Given the description of an element on the screen output the (x, y) to click on. 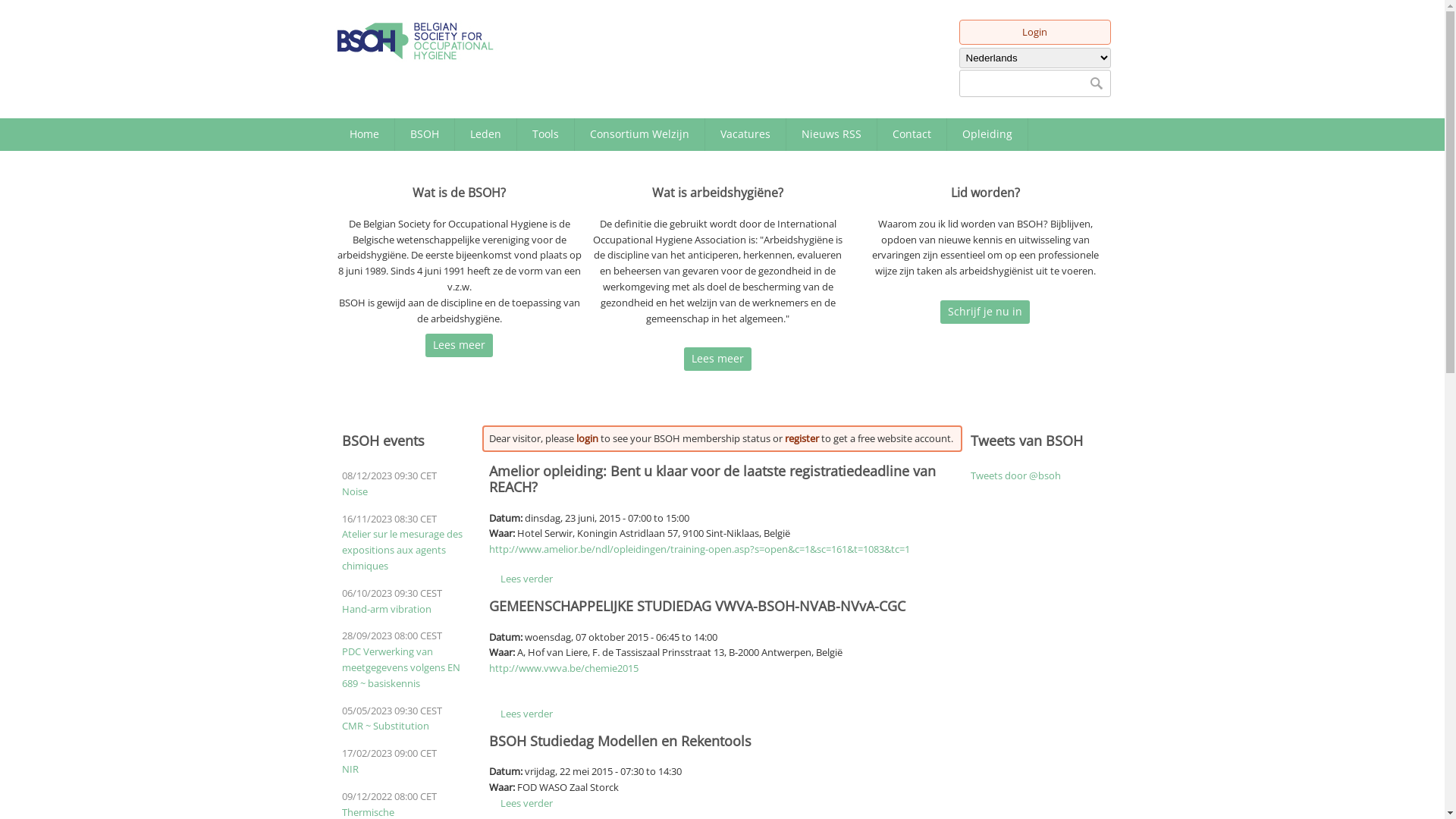
register Element type: text (801, 438)
Lees meer Element type: text (717, 358)
CMR ~ Substitution Element type: text (384, 725)
Consortium Welzijn Element type: text (639, 134)
Vacatures Element type: text (745, 134)
Home Element type: text (363, 134)
BSOH Element type: text (423, 134)
GEMEENSCHAPPELIJKE STUDIEDAG VWVA-BSOH-NVAB-NVvA-CGC Element type: text (697, 605)
Zoeken Element type: text (1095, 83)
Leden Element type: text (485, 134)
Geef de woorden op waarnaar u wilt zoeken. Element type: hover (1034, 83)
Contact Element type: text (910, 134)
PDC Verwerking van meetgegevens volgens EN 689 ~ basiskennis Element type: text (400, 667)
http://www.vwva.be/chemie2015 Element type: text (563, 667)
Lees verder
over BSOH Studiedag Modellen en Rekentools Element type: text (526, 802)
Opleiding Element type: text (986, 134)
Noise Element type: text (354, 491)
Atelier sur le mesurage des expositions aux agents chimiques Element type: text (401, 549)
login Element type: text (587, 438)
Home Element type: hover (414, 41)
NIR Element type: text (349, 768)
Lees meer Element type: text (458, 345)
Schrijf je nu in Element type: text (984, 311)
Login Element type: text (1034, 31)
Tweets door @bsoh Element type: text (1015, 475)
Tools Element type: text (545, 134)
Nieuws RSS Element type: text (830, 134)
Hand-arm vibration Element type: text (385, 608)
BSOH Studiedag Modellen en Rekentools Element type: text (620, 740)
